Given the description of an element on the screen output the (x, y) to click on. 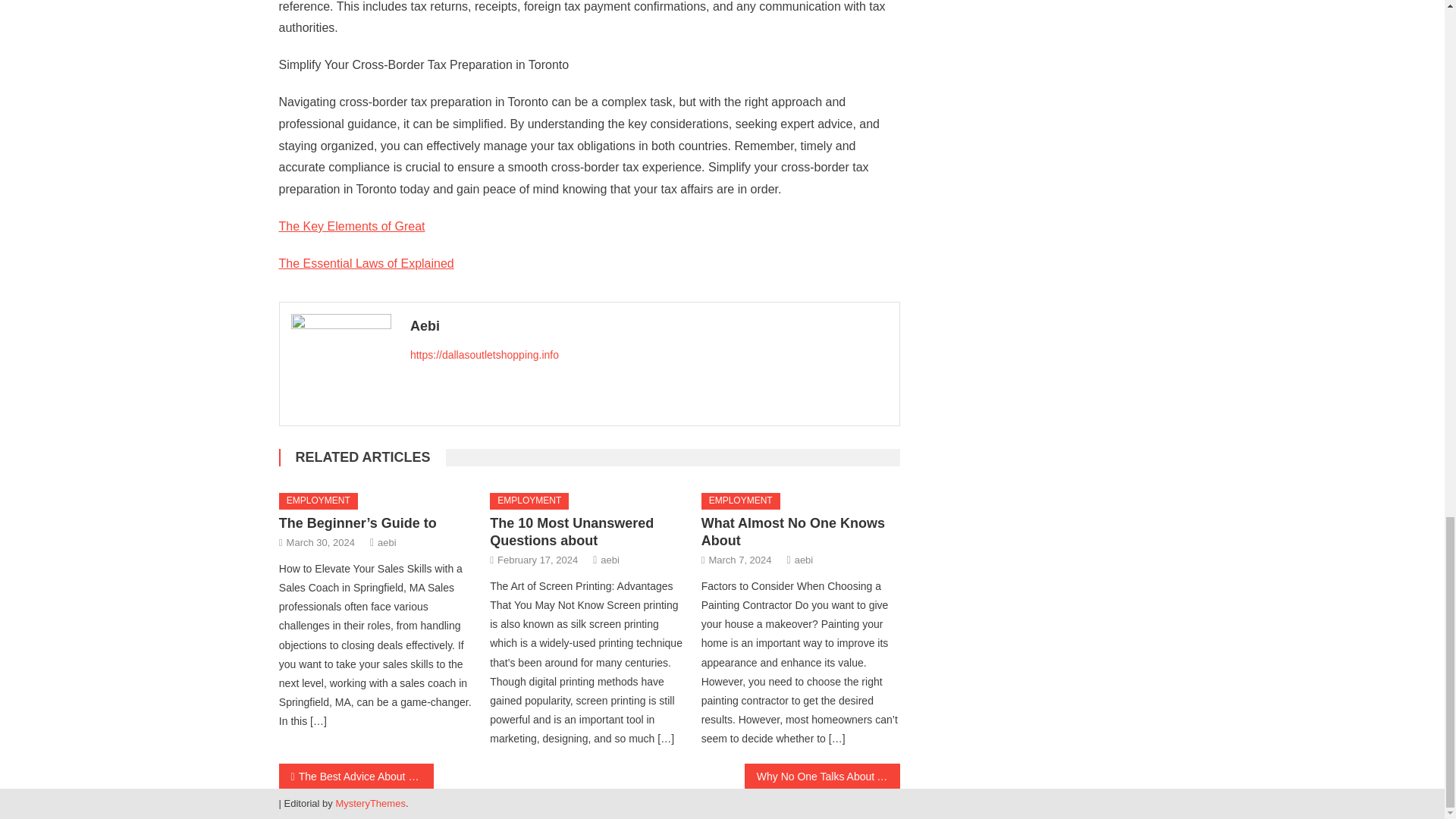
Why No One Talks About Anymore (821, 775)
aebi (609, 559)
EMPLOYMENT (740, 501)
March 30, 2024 (320, 542)
The Essential Laws of Explained (366, 263)
February 17, 2024 (537, 559)
The Key Elements of Great (352, 226)
The 10 Most Unanswered Questions about (571, 531)
aebi (803, 559)
EMPLOYMENT (529, 501)
